Given the description of an element on the screen output the (x, y) to click on. 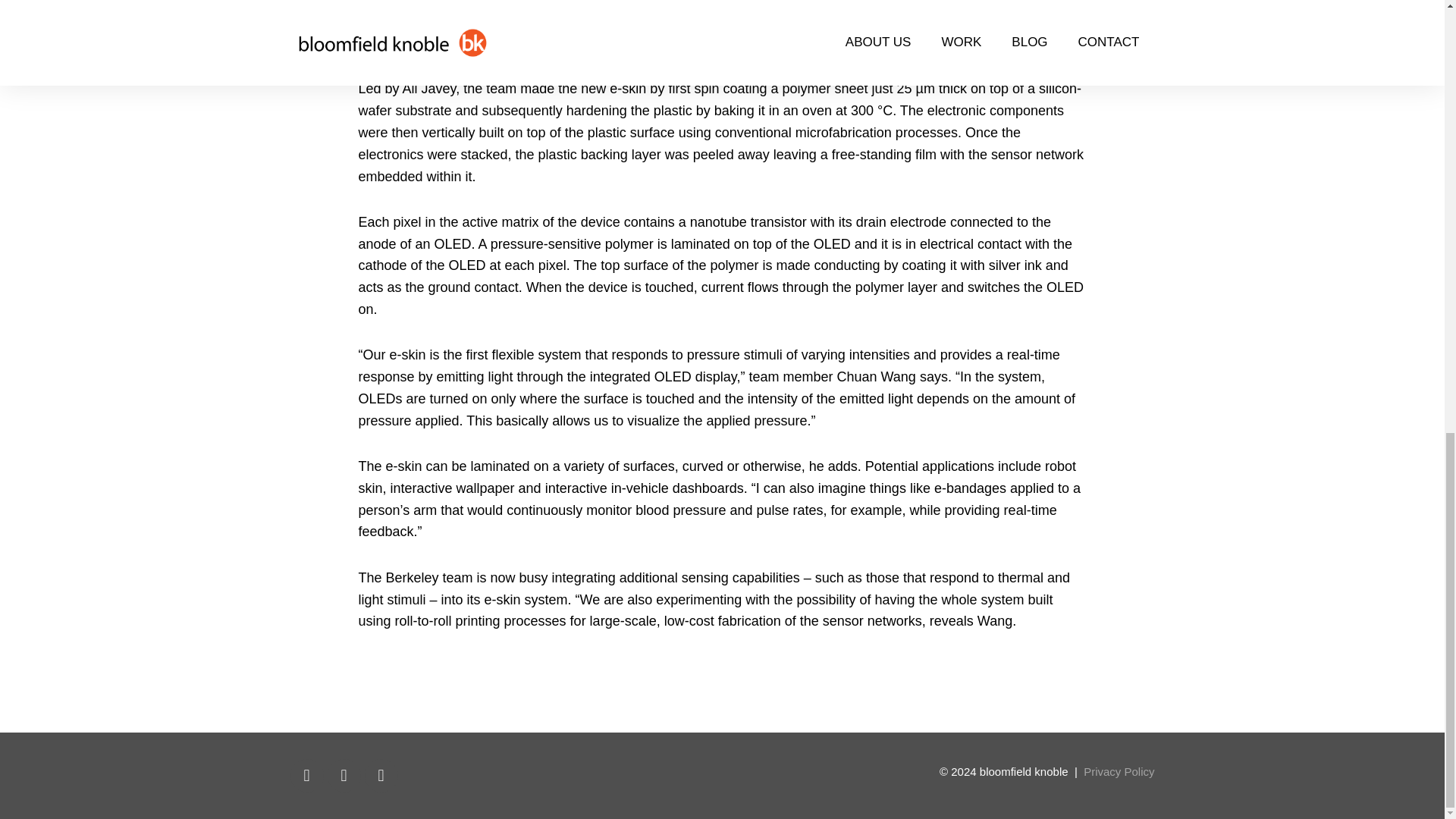
Instagram (380, 775)
Youtube (344, 775)
Privacy Policy (1118, 771)
Linkedin (306, 775)
